Given the description of an element on the screen output the (x, y) to click on. 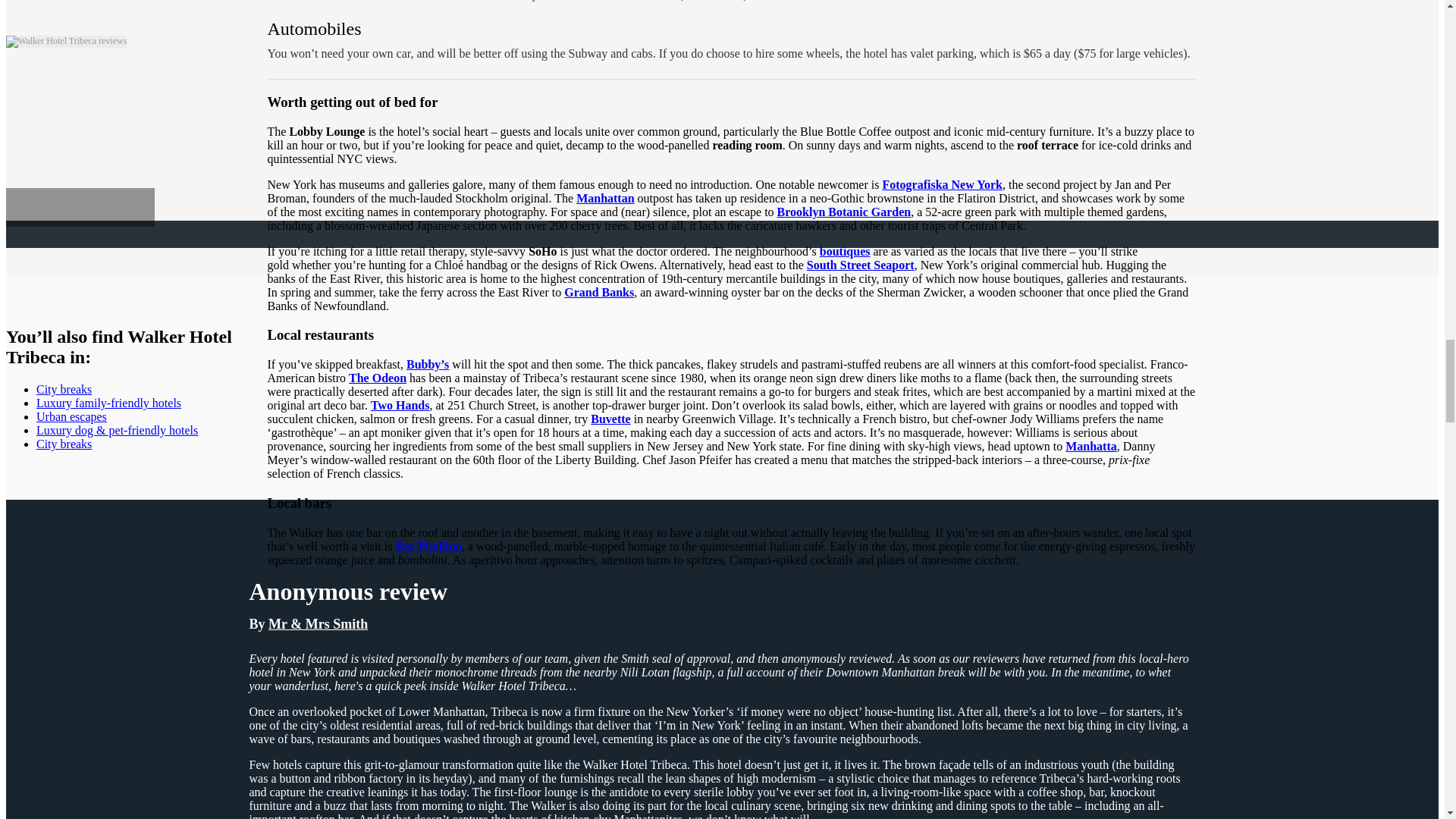
Walker Hotel Tribeca (65, 41)
South Street Seaport (860, 264)
boutiques (844, 250)
Manhattan (604, 197)
Brooklyn Botanic Garden (844, 211)
Fotografiska New York (942, 184)
Grand Banks (598, 291)
